Given the description of an element on the screen output the (x, y) to click on. 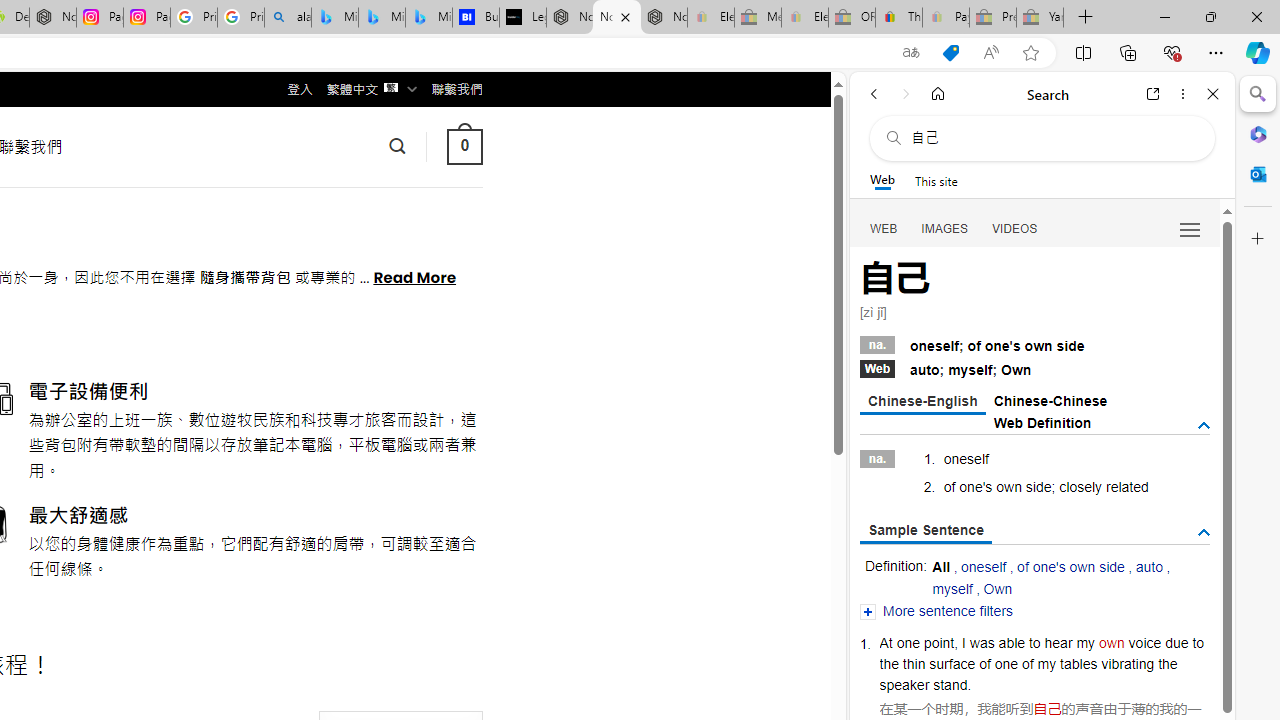
of (984, 663)
Chinese-English (922, 402)
Read More (414, 276)
s (989, 486)
closely (1080, 486)
able (1012, 642)
own (1112, 642)
WEB (884, 228)
